Given the description of an element on the screen output the (x, y) to click on. 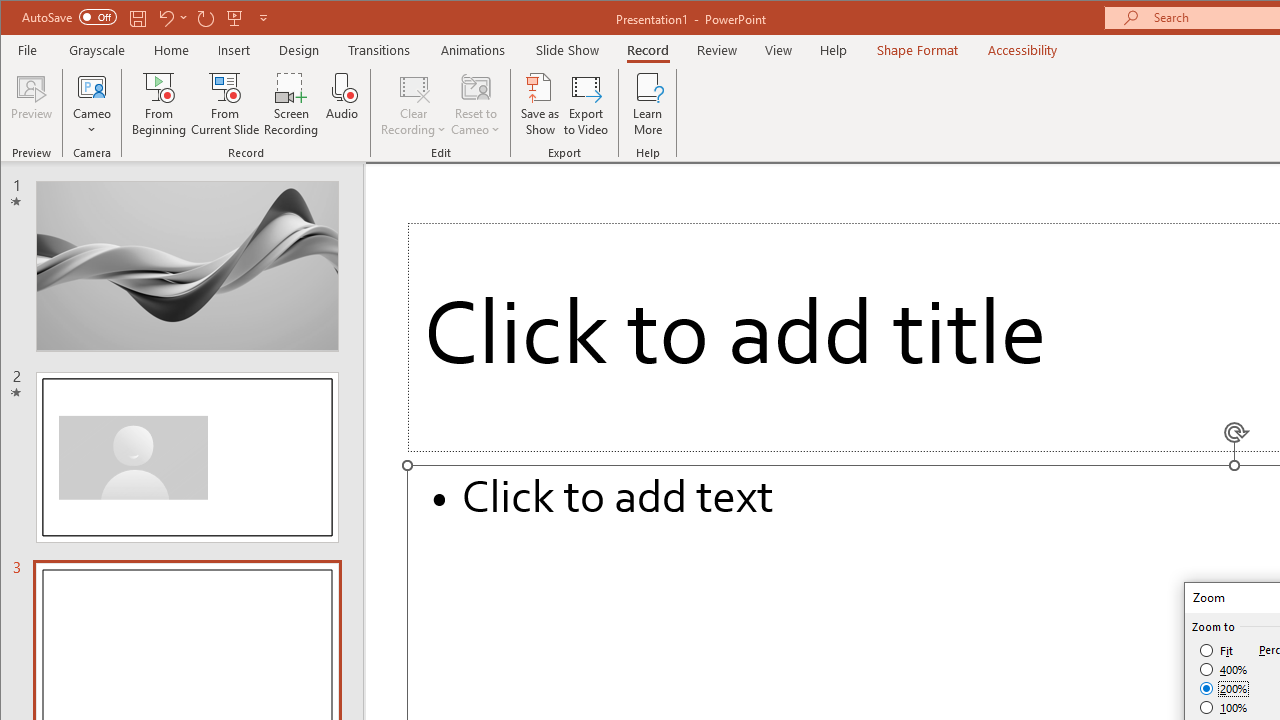
Fit (1217, 650)
200% (1224, 688)
100% (1224, 707)
400% (1224, 669)
